Given the description of an element on the screen output the (x, y) to click on. 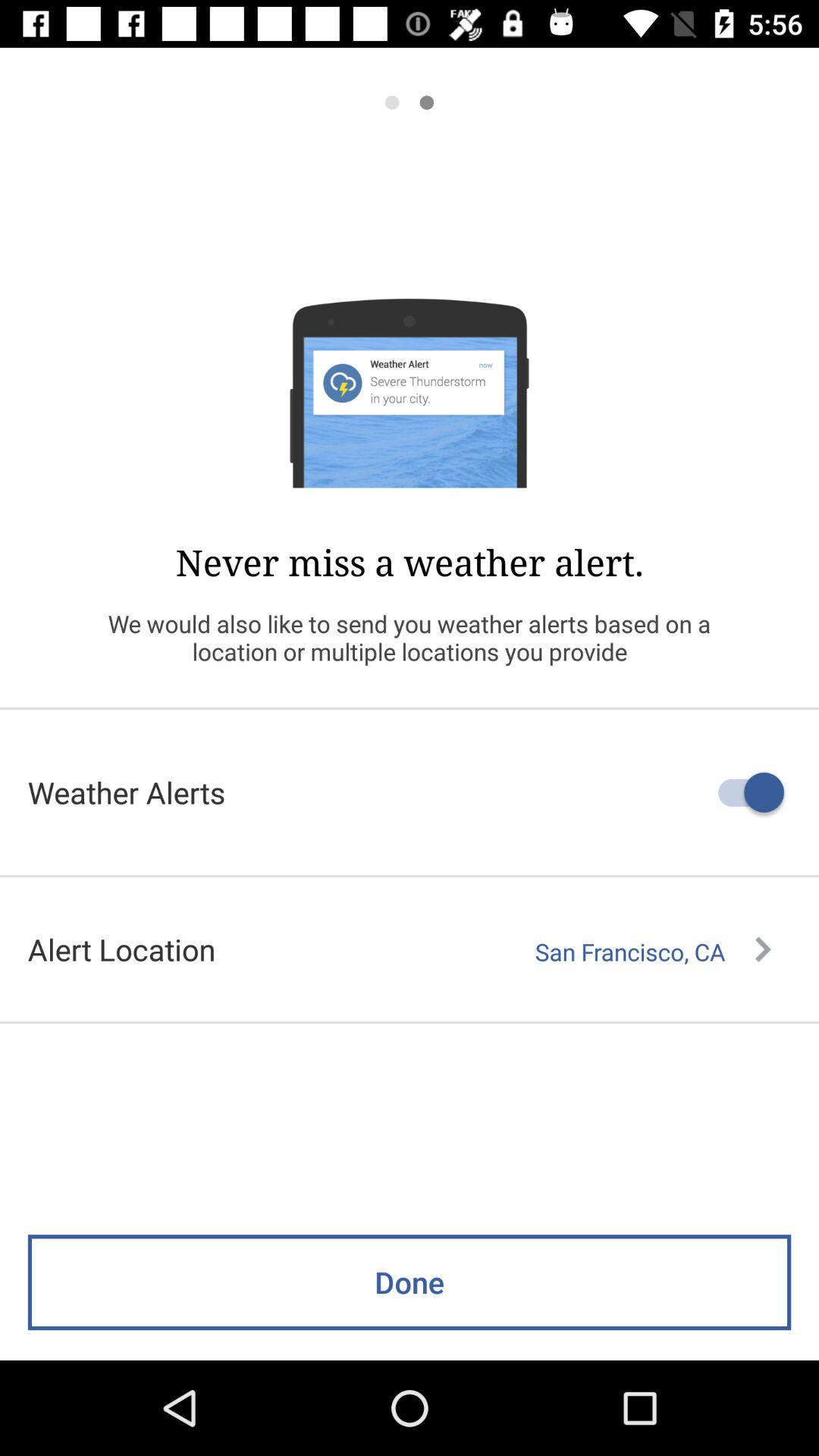
swipe to the san francisco, ca icon (653, 951)
